Given the description of an element on the screen output the (x, y) to click on. 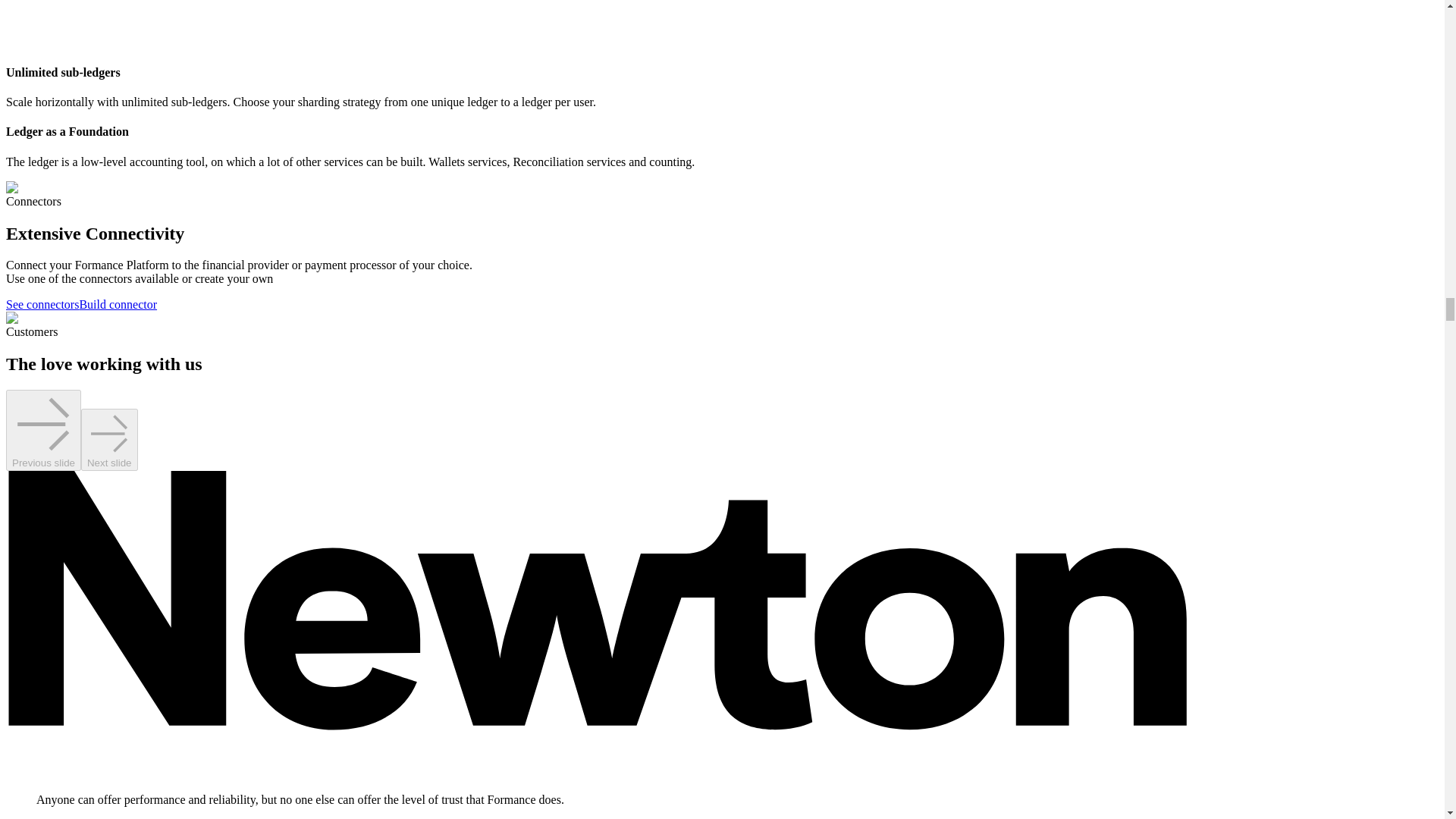
Build connector (117, 304)
Next slide (109, 439)
See connectors (41, 304)
Previous slide (43, 429)
